Given the description of an element on the screen output the (x, y) to click on. 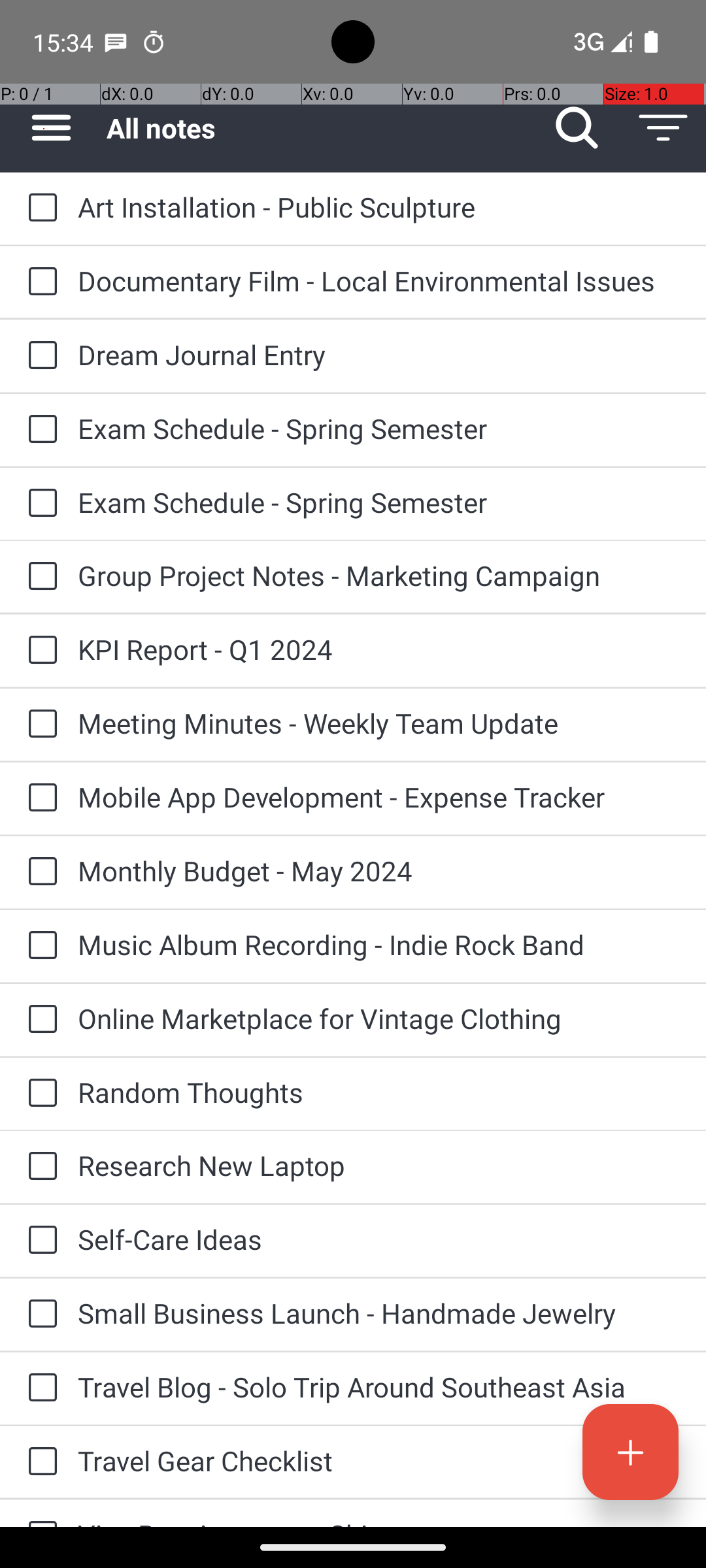
to-do: Art Installation - Public Sculpture Element type: android.widget.CheckBox (38, 208)
Art Installation - Public Sculpture Element type: android.widget.TextView (378, 206)
to-do: Documentary Film - Local Environmental Issues Element type: android.widget.CheckBox (38, 282)
Documentary Film - Local Environmental Issues Element type: android.widget.TextView (378, 280)
to-do: Dream Journal Entry Element type: android.widget.CheckBox (38, 356)
Dream Journal Entry Element type: android.widget.TextView (378, 354)
to-do: Exam Schedule - Spring Semester Element type: android.widget.CheckBox (38, 429)
Exam Schedule - Spring Semester Element type: android.widget.TextView (378, 427)
to-do: KPI Report - Q1 2024 Element type: android.widget.CheckBox (38, 650)
KPI Report - Q1 2024 Element type: android.widget.TextView (378, 648)
to-do: Meeting Minutes - Weekly Team Update Element type: android.widget.CheckBox (38, 724)
Meeting Minutes - Weekly Team Update Element type: android.widget.TextView (378, 722)
to-do: Mobile App Development - Expense Tracker Element type: android.widget.CheckBox (38, 798)
Mobile App Development - Expense Tracker Element type: android.widget.TextView (378, 796)
to-do: Monthly Budget - May 2024 Element type: android.widget.CheckBox (38, 872)
Monthly Budget - May 2024 Element type: android.widget.TextView (378, 870)
to-do: Music Album Recording - Indie Rock Band Element type: android.widget.CheckBox (38, 945)
Music Album Recording - Indie Rock Band Element type: android.widget.TextView (378, 944)
to-do: Random Thoughts Element type: android.widget.CheckBox (38, 1093)
Random Thoughts Element type: android.widget.TextView (378, 1091)
to-do: Research New Laptop Element type: android.widget.CheckBox (38, 1166)
Research New Laptop Element type: android.widget.TextView (378, 1164)
to-do: Self-Care Ideas Element type: android.widget.CheckBox (38, 1240)
Self-Care Ideas Element type: android.widget.TextView (378, 1238)
to-do: Small Business Launch - Handmade Jewelry Element type: android.widget.CheckBox (38, 1314)
Small Business Launch - Handmade Jewelry Element type: android.widget.TextView (378, 1312)
to-do: Travel Blog - Solo Trip Around Southeast Asia Element type: android.widget.CheckBox (38, 1388)
Travel Blog - Solo Trip Around Southeast Asia Element type: android.widget.TextView (378, 1386)
to-do: Travel Gear Checklist Element type: android.widget.CheckBox (38, 1462)
Travel Gear Checklist Element type: android.widget.TextView (378, 1460)
to-do: Visa Requirements - China Element type: android.widget.CheckBox (38, 1513)
Visa Requirements - China Element type: android.widget.TextView (378, 1520)
